Given the description of an element on the screen output the (x, y) to click on. 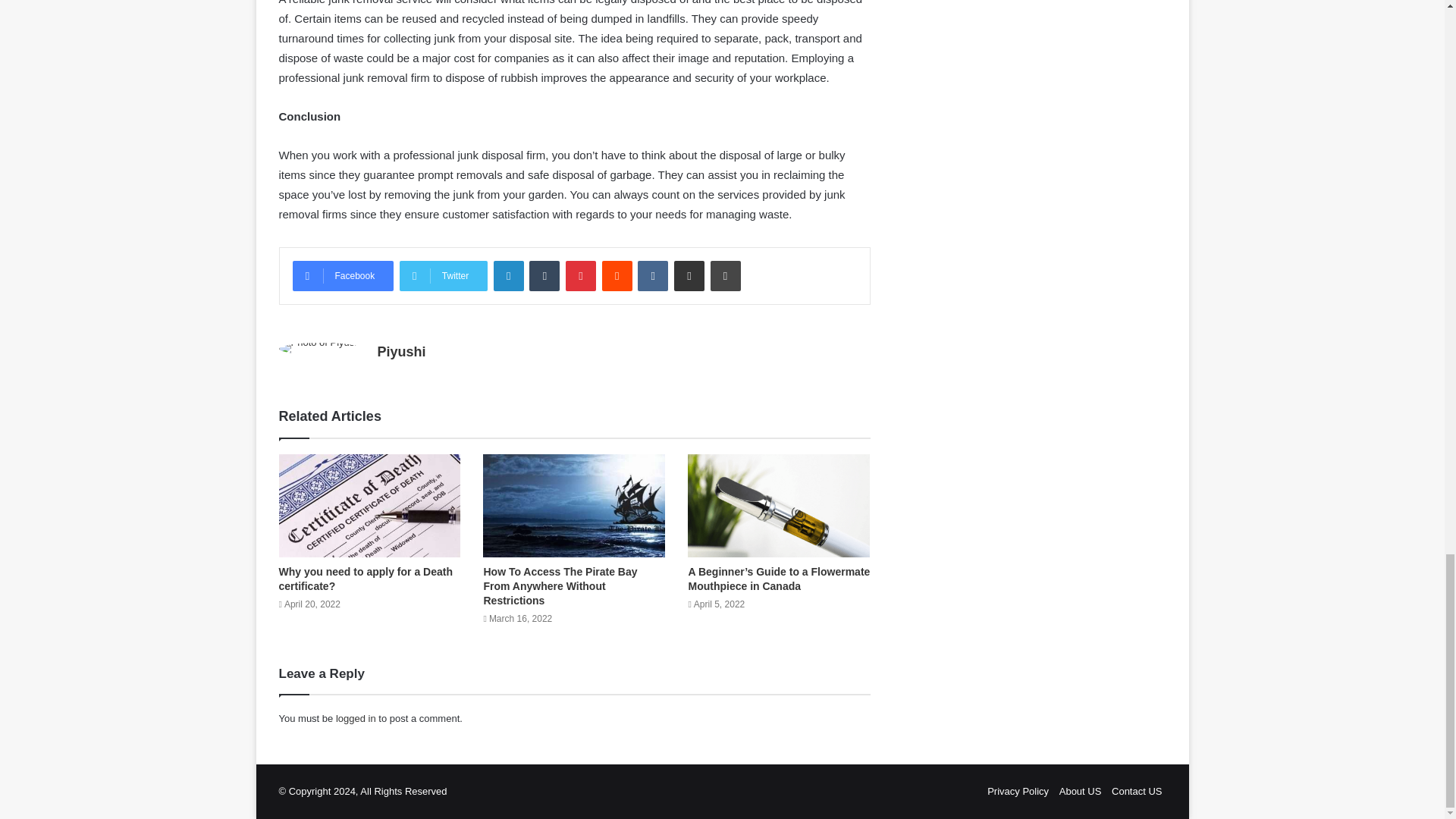
VKontakte (652, 276)
Share via Email (689, 276)
LinkedIn (508, 276)
Pinterest (580, 276)
Facebook (343, 276)
Facebook (343, 276)
Pinterest (580, 276)
Reddit (616, 276)
LinkedIn (508, 276)
Print (725, 276)
